Given the description of an element on the screen output the (x, y) to click on. 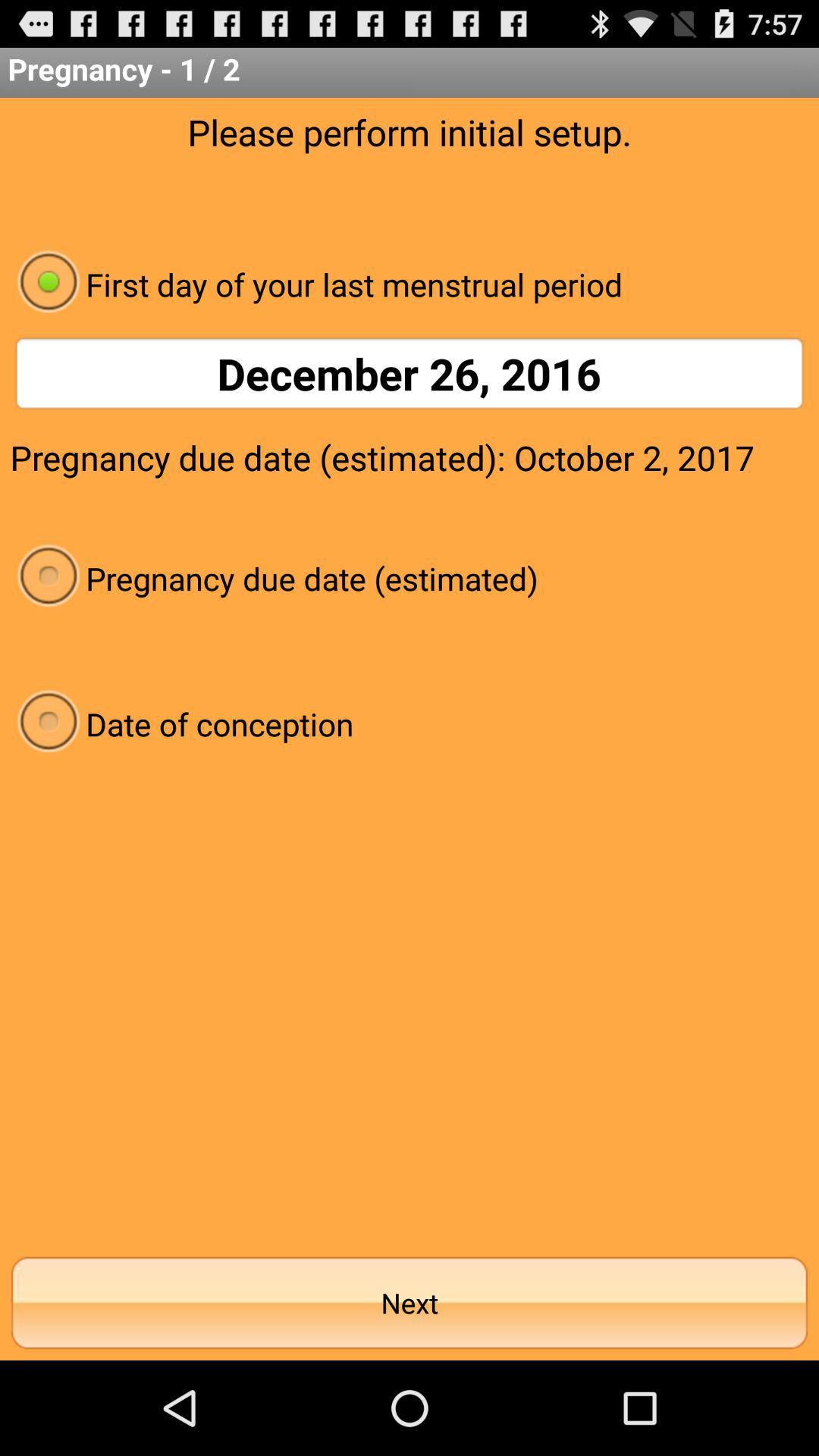
press the item below date of conception (409, 1302)
